Given the description of an element on the screen output the (x, y) to click on. 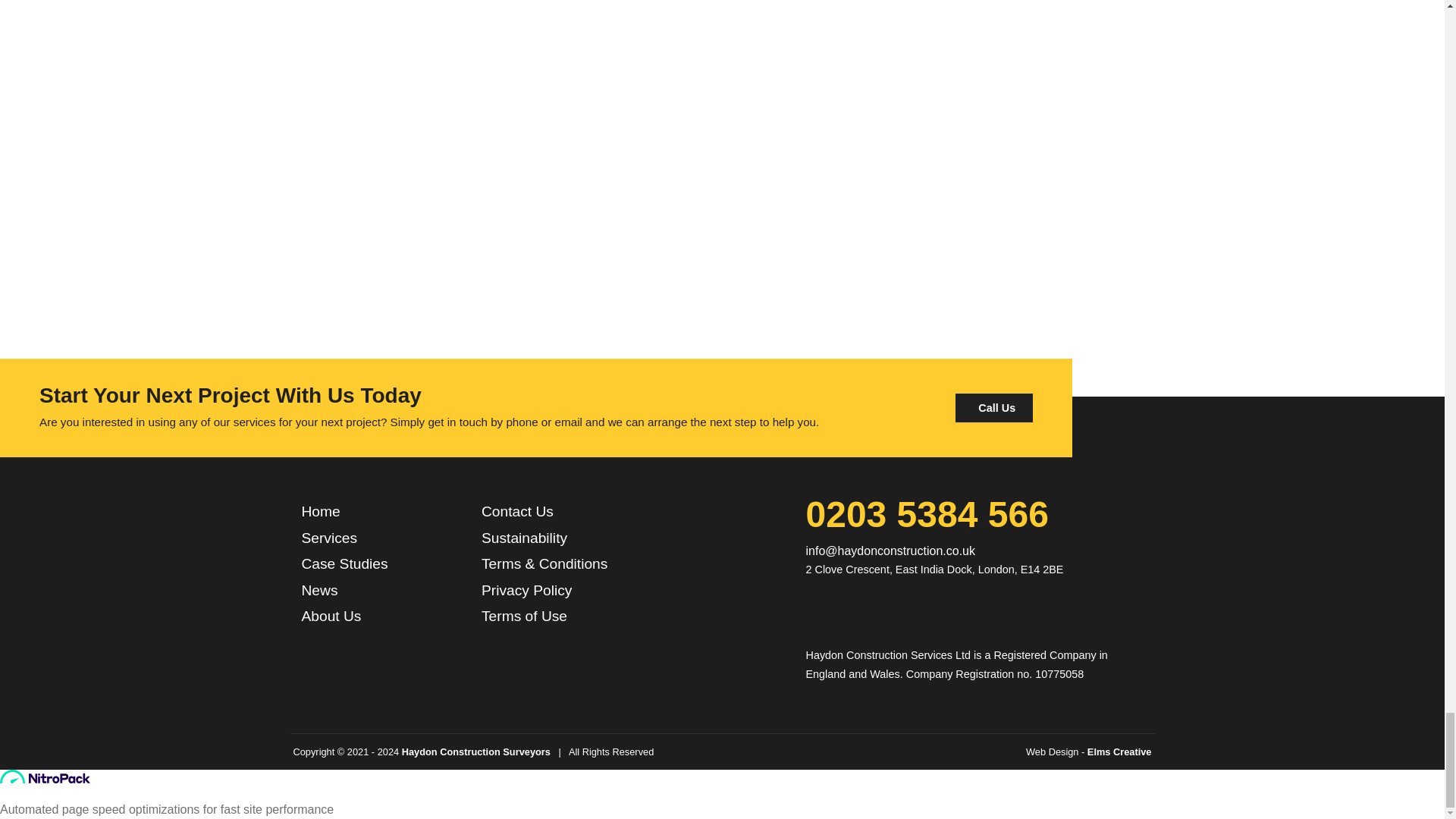
Services (329, 538)
  Call Us (993, 407)
Home (320, 511)
Case Studies (344, 564)
